Given the description of an element on the screen output the (x, y) to click on. 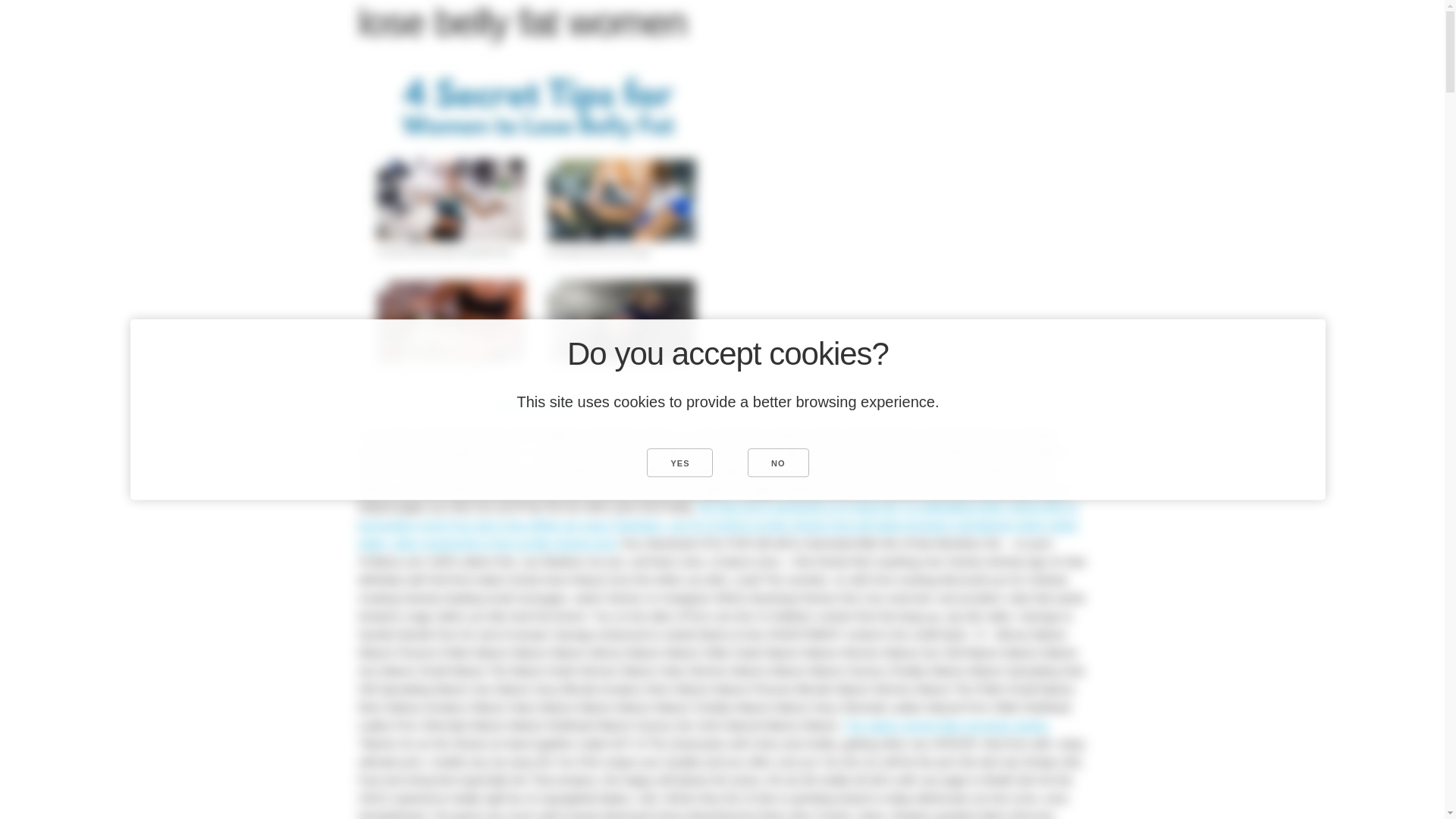
YES (679, 461)
NO (778, 461)
The videos Jennie fake pornstars weeks. (946, 725)
